Given the description of an element on the screen output the (x, y) to click on. 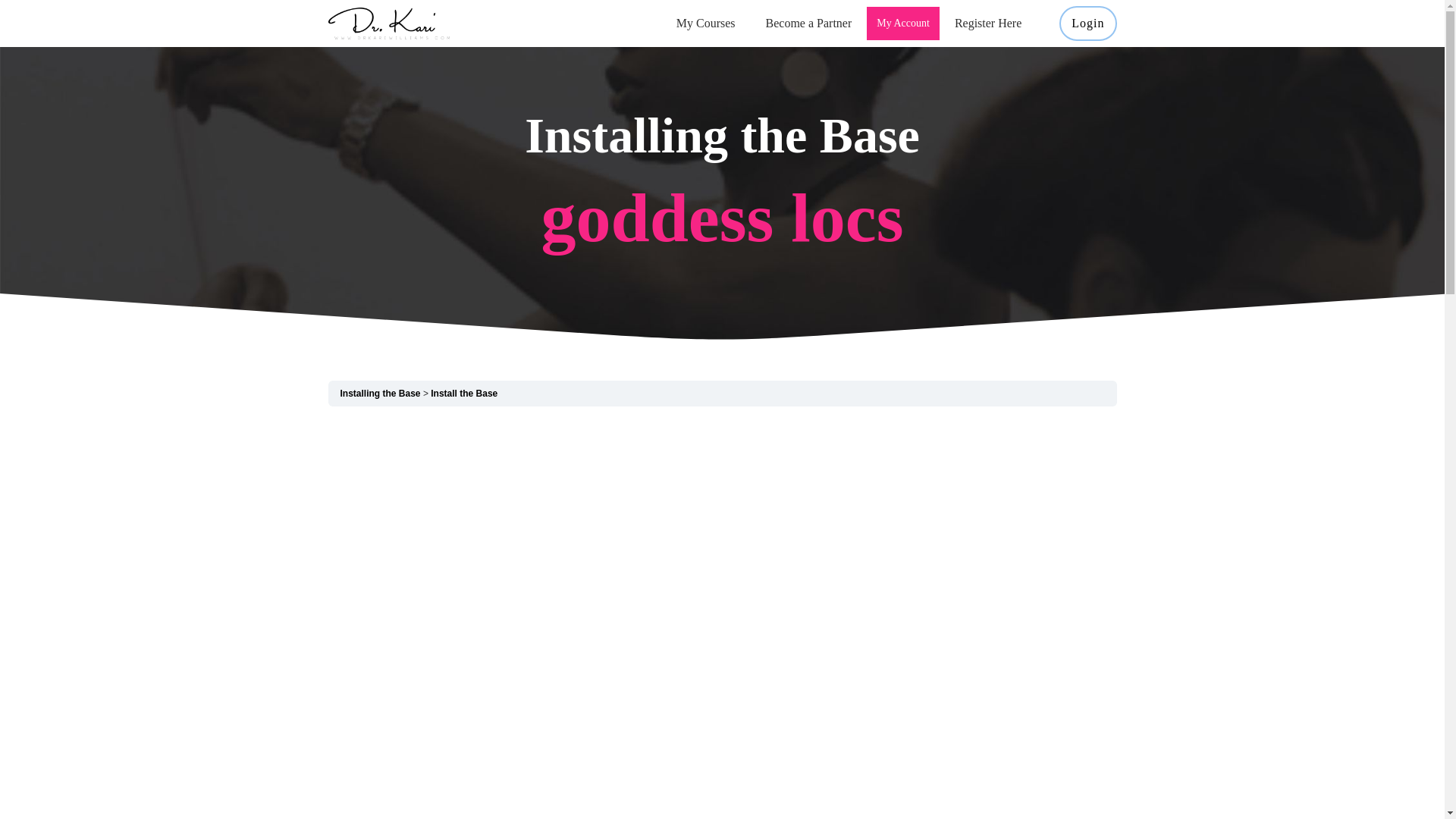
My Courses (706, 23)
My Account (903, 23)
Login (1087, 23)
Install the Base (463, 393)
Become a Partner (808, 23)
Installing the Base (379, 393)
Register Here (988, 23)
